Given the description of an element on the screen output the (x, y) to click on. 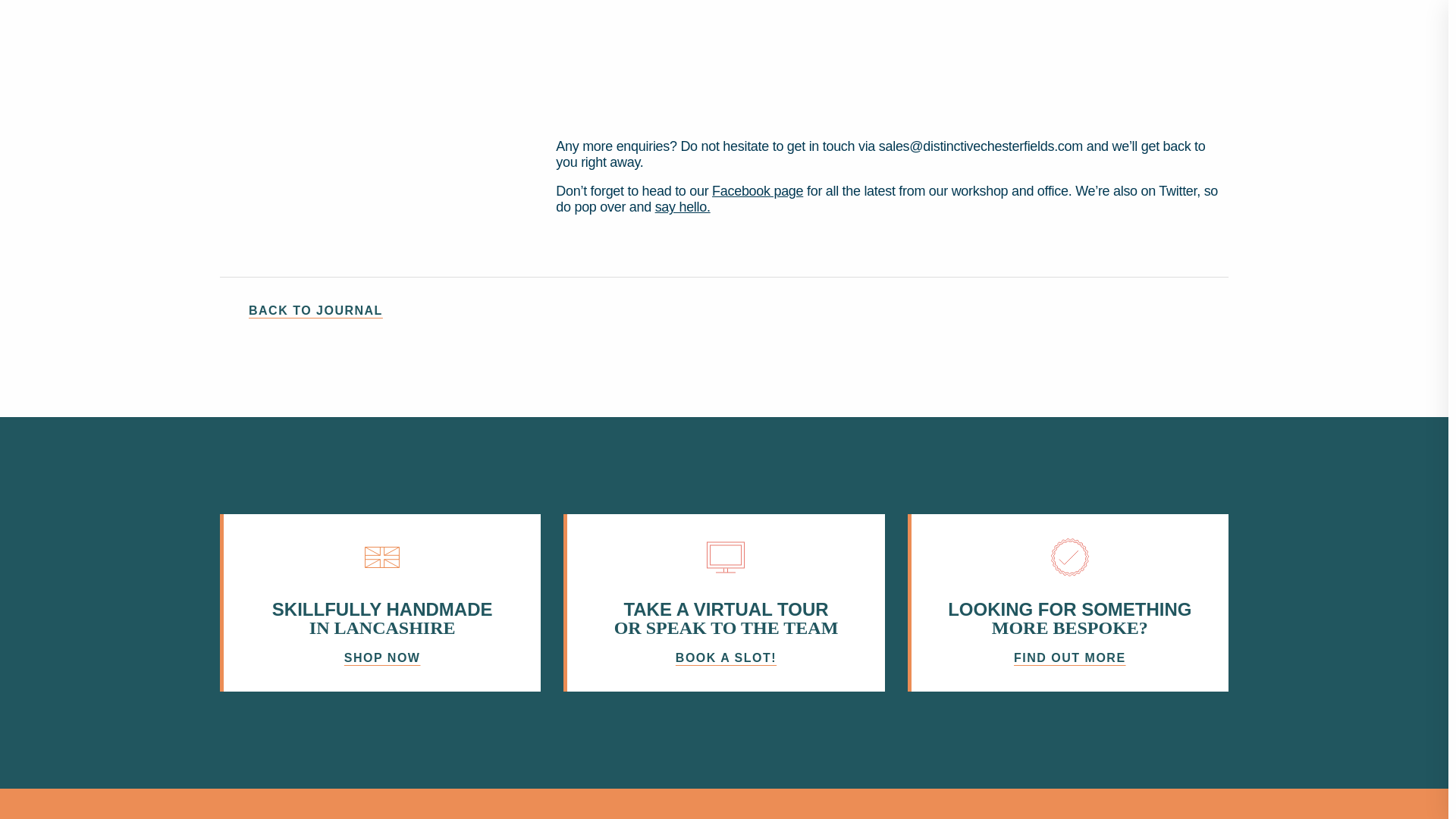
Book a Showroom Visit or a Consultation Call (723, 602)
Shop Now (379, 602)
Back to Posts Archive (723, 311)
